Given the description of an element on the screen output the (x, y) to click on. 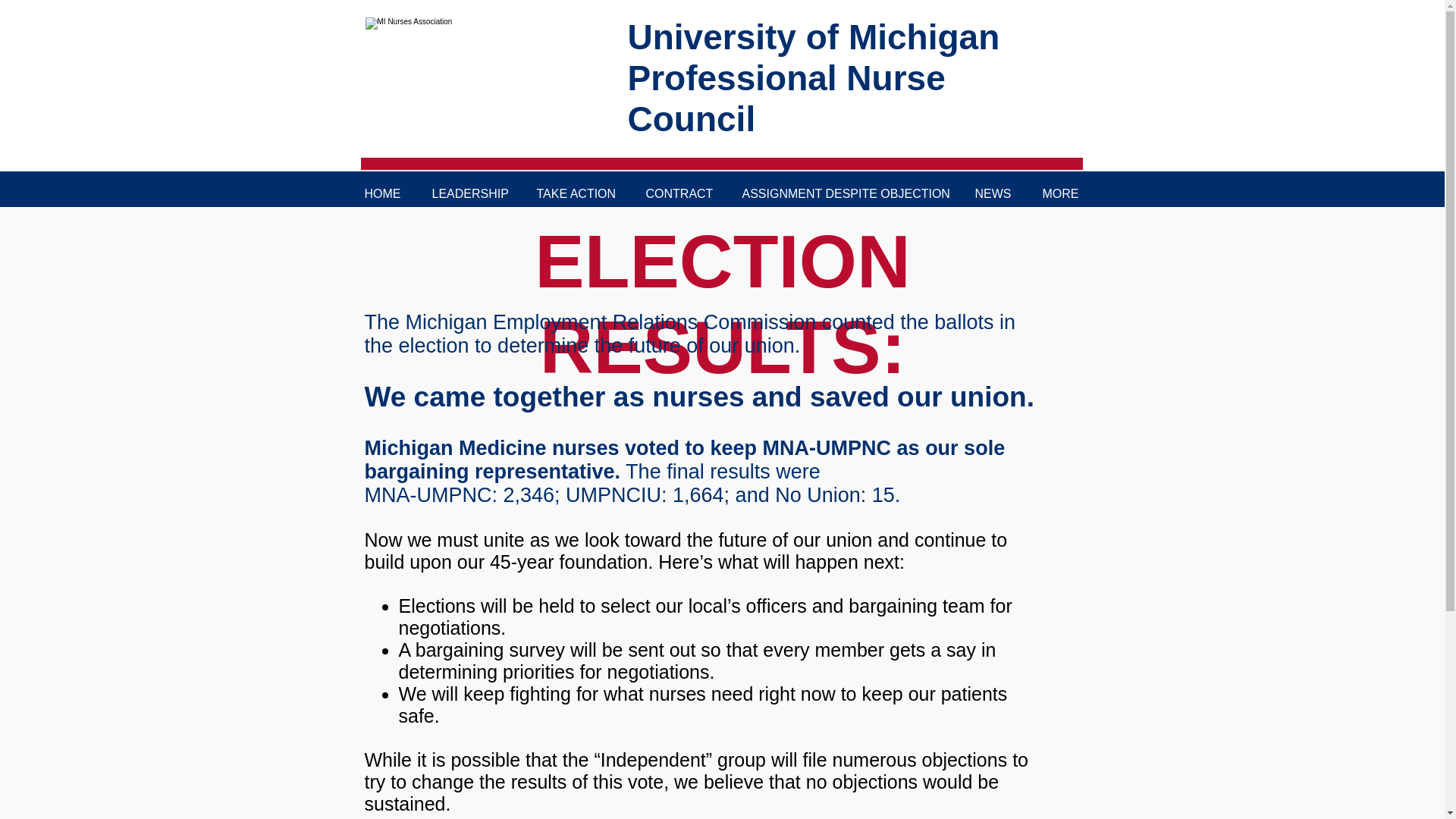
LEADERSHIP (473, 186)
ASSIGNMENT DESPITE OBJECTION (848, 186)
TAKE ACTION (579, 186)
CONTRACT (683, 186)
NEWS (997, 186)
HOME (388, 186)
